Given the description of an element on the screen output the (x, y) to click on. 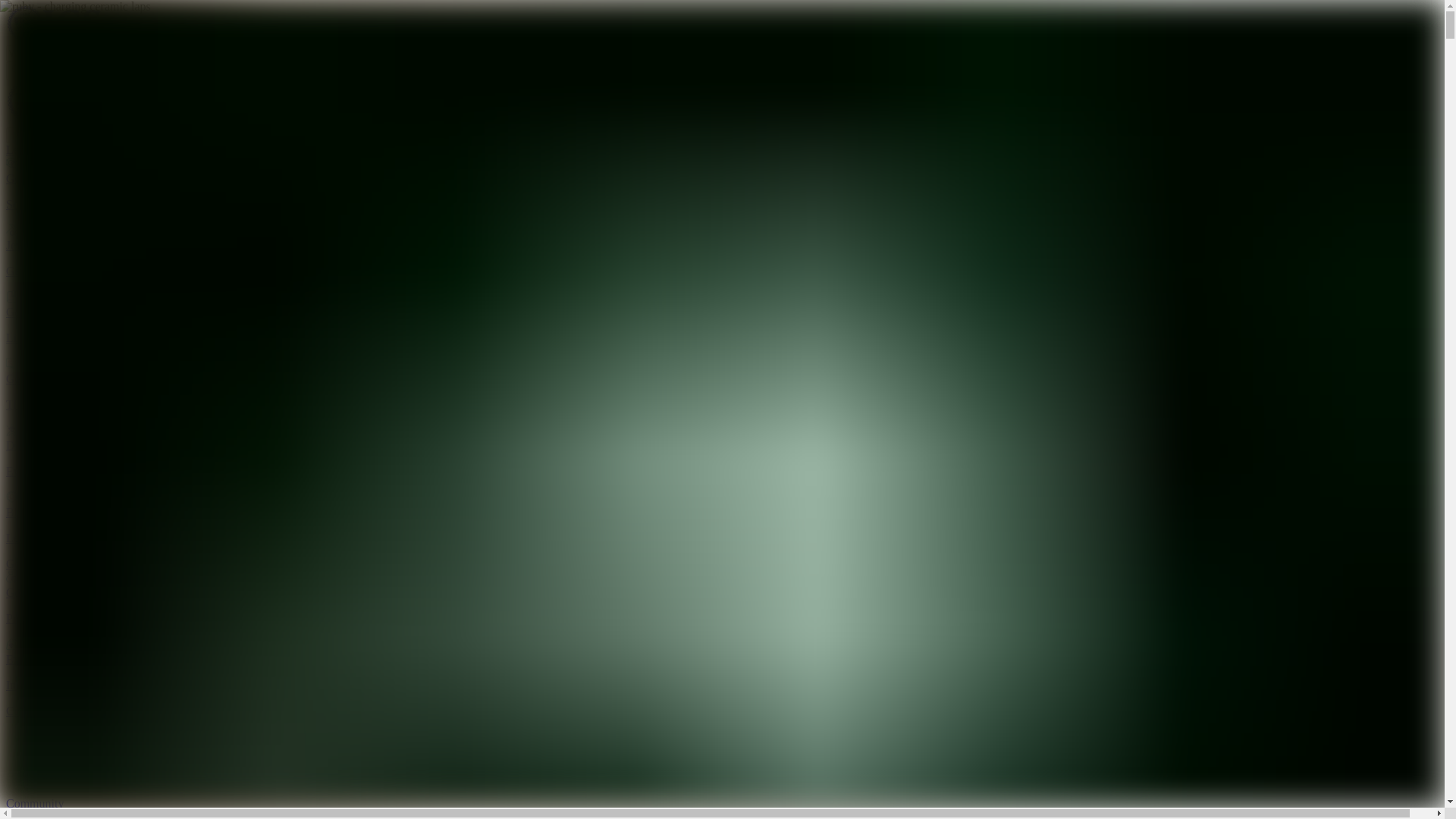
MEMBERSHIP (45, 133)
Diamond Specialist Certification (116, 777)
MEMBERSHIP (45, 135)
Search (113, 134)
Courses (25, 710)
Mini Courses (68, 749)
Overview (60, 736)
Community (34, 802)
Learning Center (44, 149)
Gem Pricing (35, 563)
Professional Gemologist Certification (128, 763)
